Given the description of an element on the screen output the (x, y) to click on. 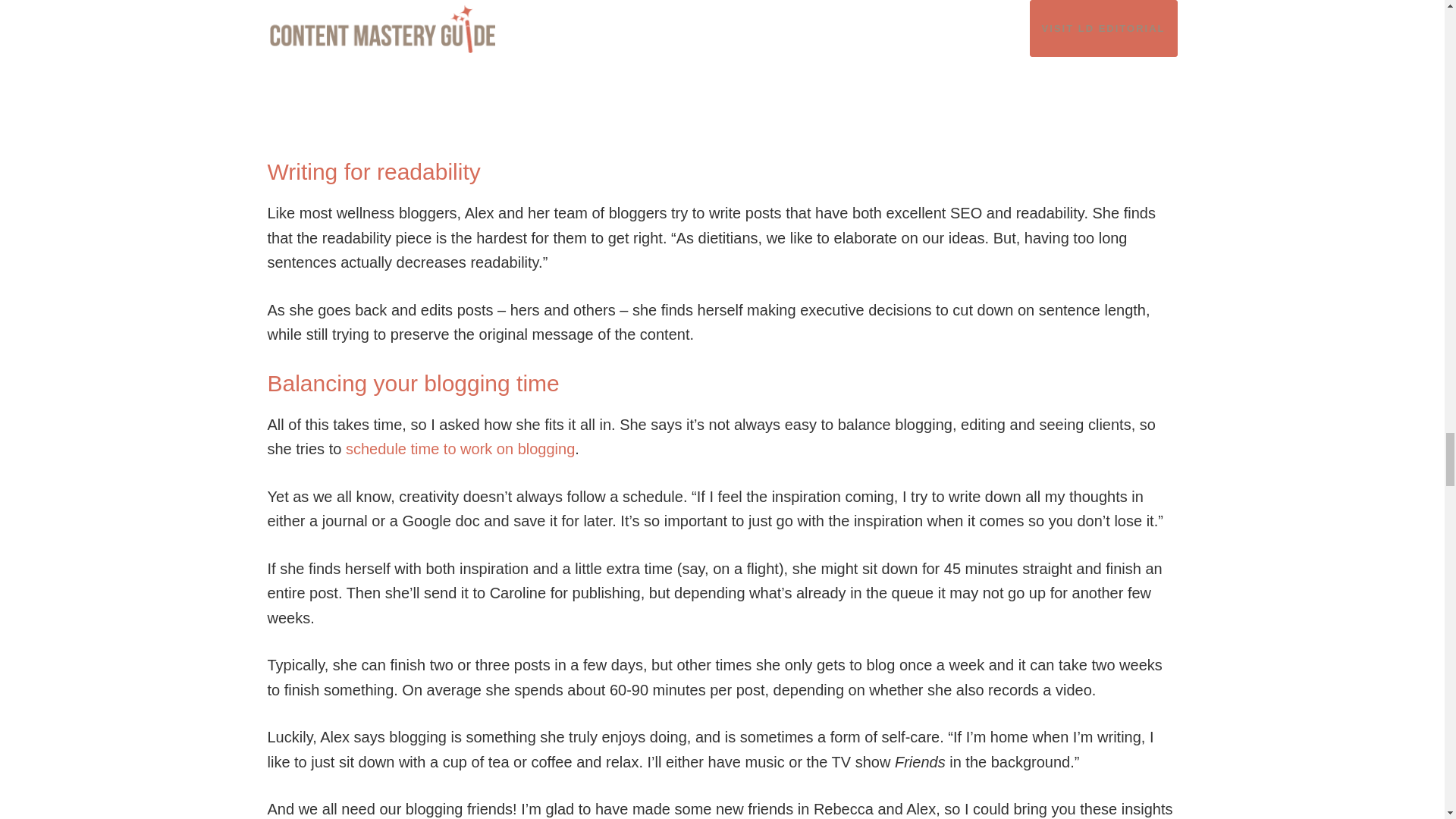
schedule time to work on blogging (460, 448)
